Given the description of an element on the screen output the (x, y) to click on. 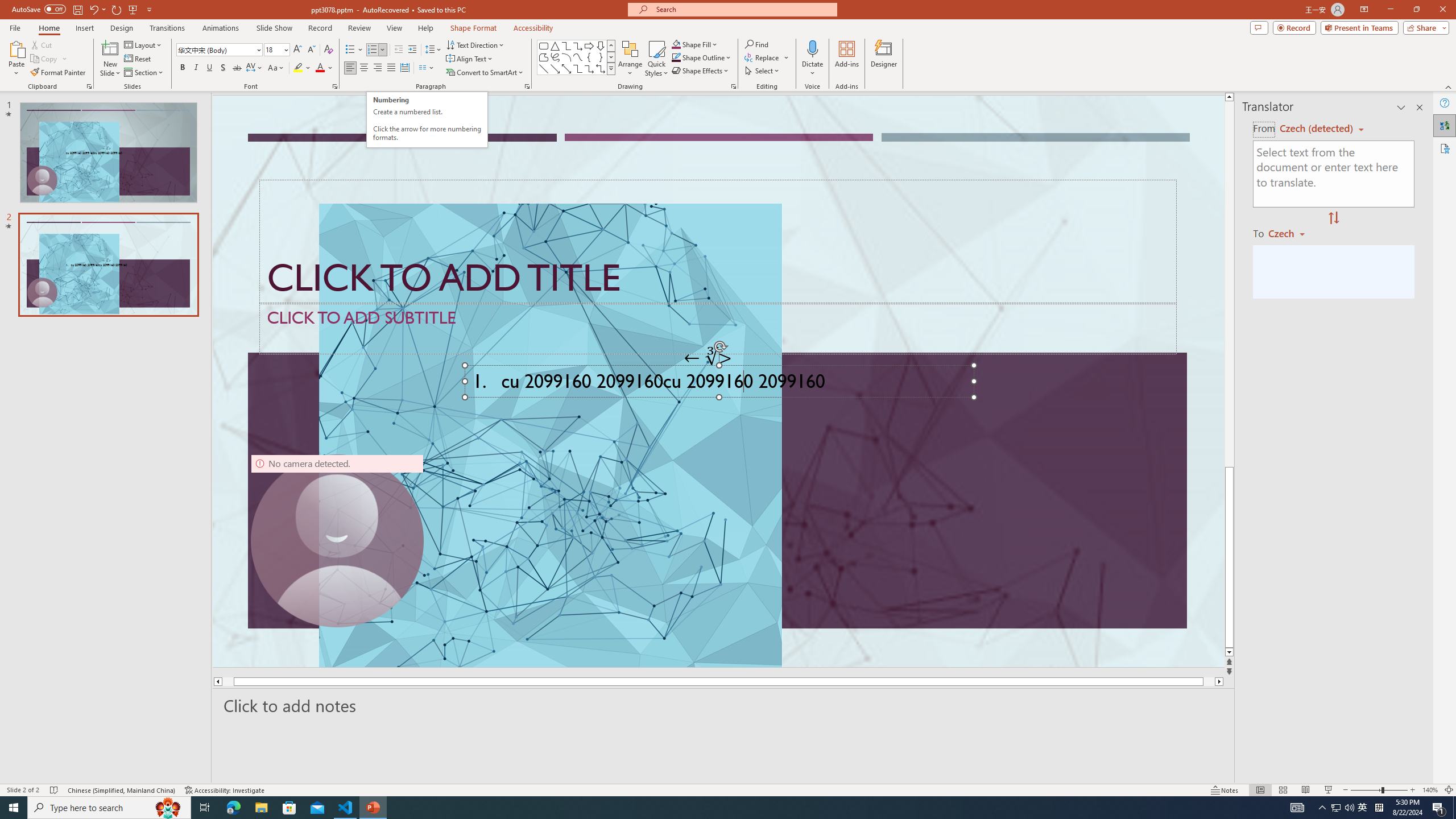
Connector: Elbow Arrow (589, 68)
Curve (577, 57)
Text Highlight Color Yellow (297, 67)
Select (762, 69)
Czech (detected) (1317, 128)
Text Direction (476, 44)
Subtitle TextBox (717, 328)
Underline (209, 67)
Connector: Elbow Double-Arrow (600, 68)
Freeform: Scribble (554, 57)
Align Text (470, 58)
